Given the description of an element on the screen output the (x, y) to click on. 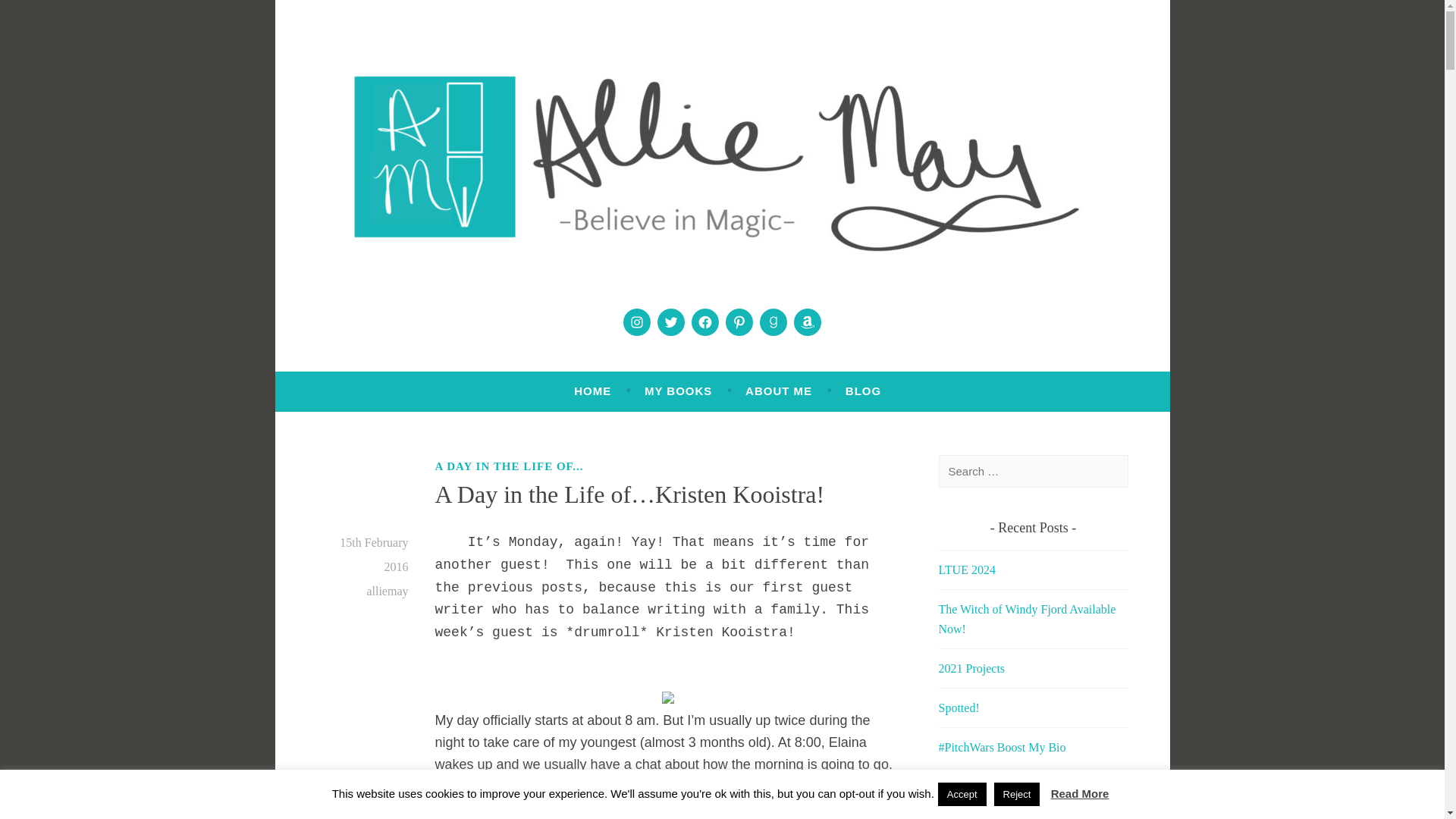
ABOUT ME (778, 390)
Instagram (636, 322)
Amazon (807, 322)
BLOG (862, 390)
A DAY IN THE LIFE OF... (509, 466)
Facebook (705, 322)
MY BOOKS (678, 390)
15th February 2016 (373, 554)
Pinterest (739, 322)
HOME (592, 390)
Twitter (670, 322)
Goodreads (772, 322)
Allie May (390, 323)
alliemay (386, 590)
